Given the description of an element on the screen output the (x, y) to click on. 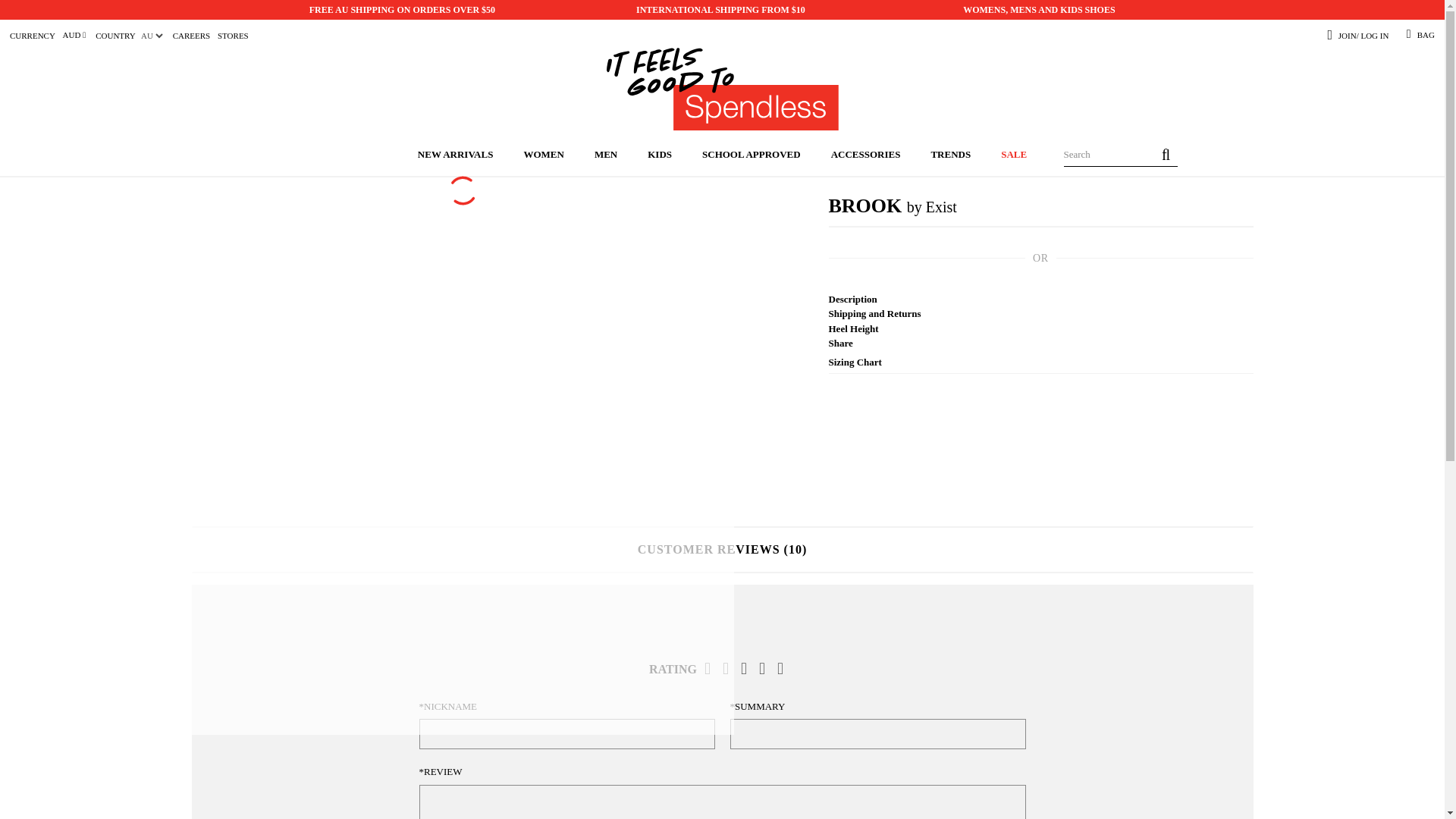
CAREERS (192, 35)
Search (1165, 154)
4 stars (767, 667)
STORES (232, 35)
2 stars (731, 667)
3 stars (749, 667)
5 stars (785, 667)
WOMENS, MENS AND KIDS SHOES (1038, 9)
NEW ARRIVALS (455, 155)
WOMEN (543, 155)
Spendless Shoes (721, 90)
BAG (1425, 34)
1 star (713, 667)
